Given the description of an element on the screen output the (x, y) to click on. 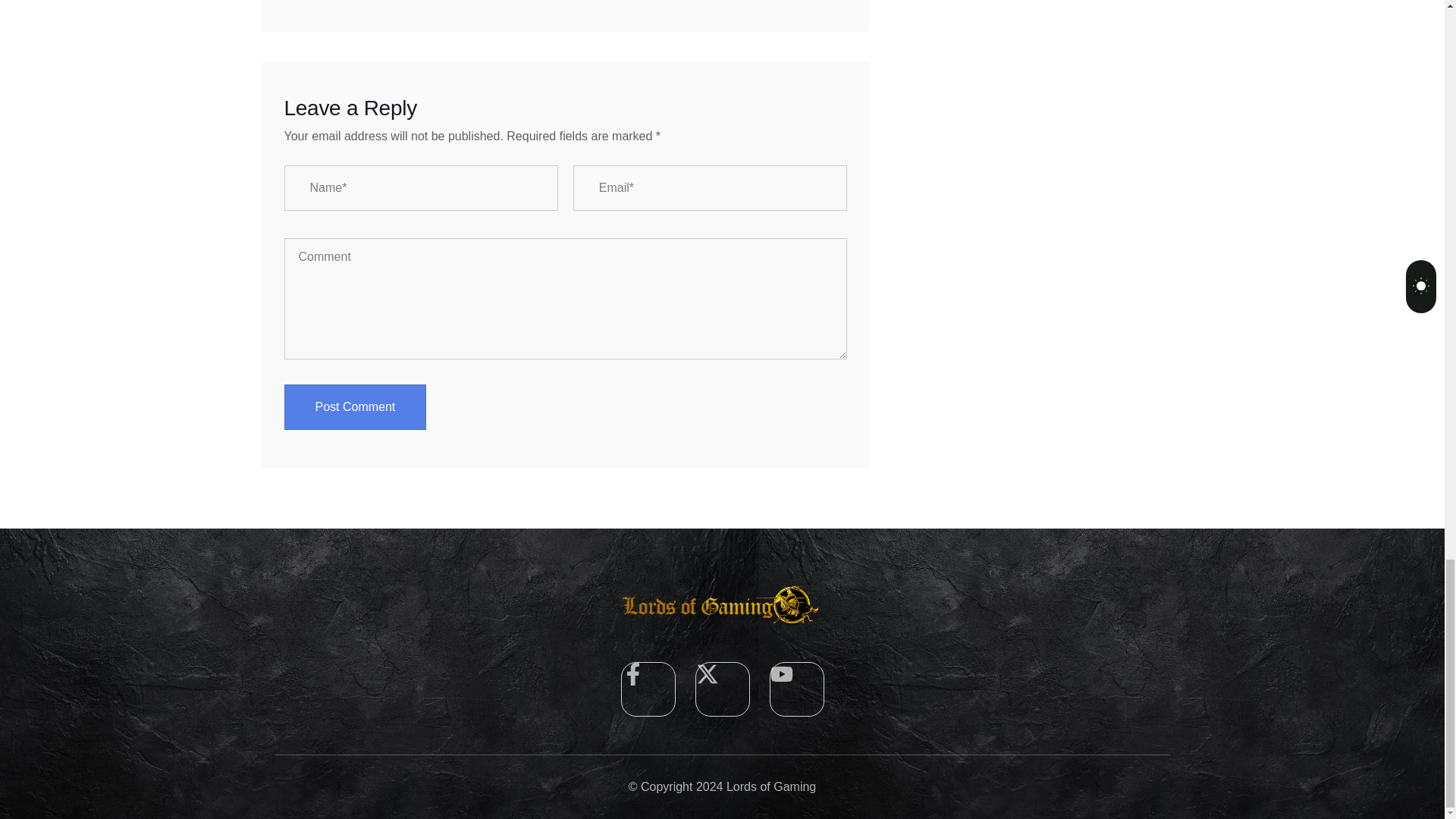
Post Comment (354, 406)
